Given the description of an element on the screen output the (x, y) to click on. 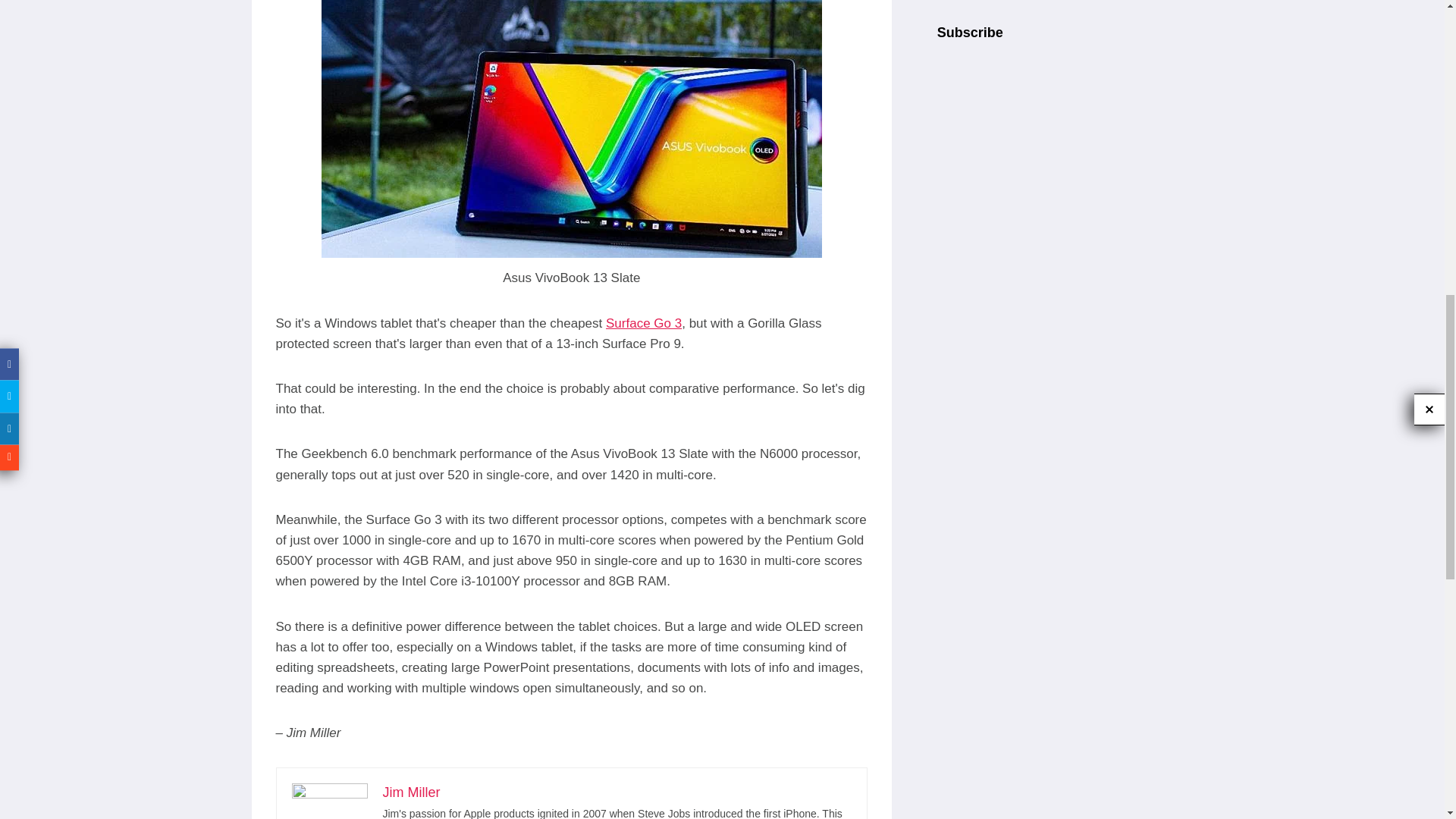
Jim Miller (410, 792)
Surface Go 3 (643, 323)
